Given the description of an element on the screen output the (x, y) to click on. 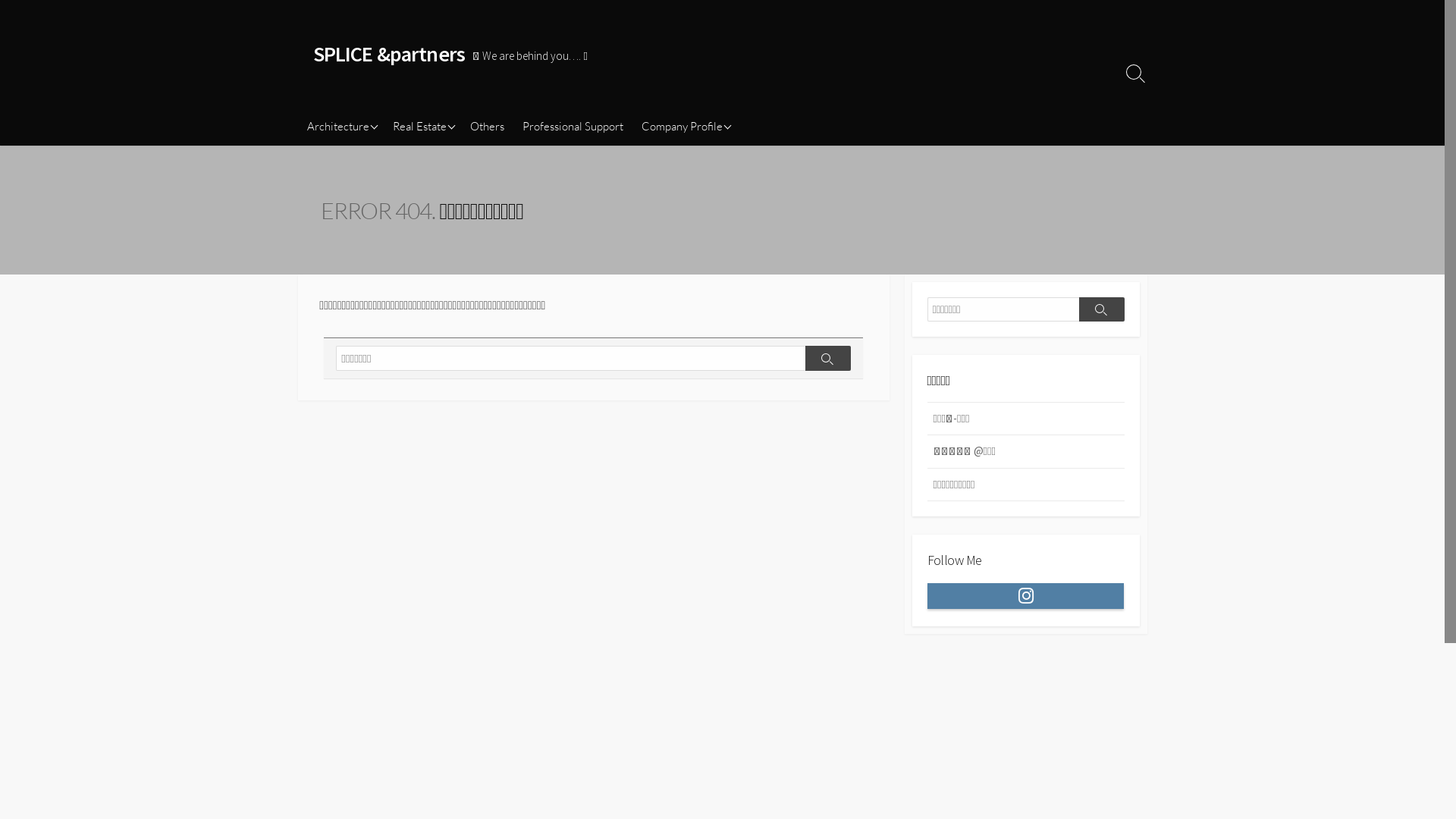
Professional Support Element type: text (571, 126)
Others Element type: text (487, 126)
Staff Only Element type: text (708, 151)
Company Profile Element type: text (684, 126)
Architecture Element type: text (339, 126)
Real Estate Element type: text (422, 126)
SPLICE &partners Element type: text (388, 53)
Instagram Element type: text (1025, 595)
